Given the description of an element on the screen output the (x, y) to click on. 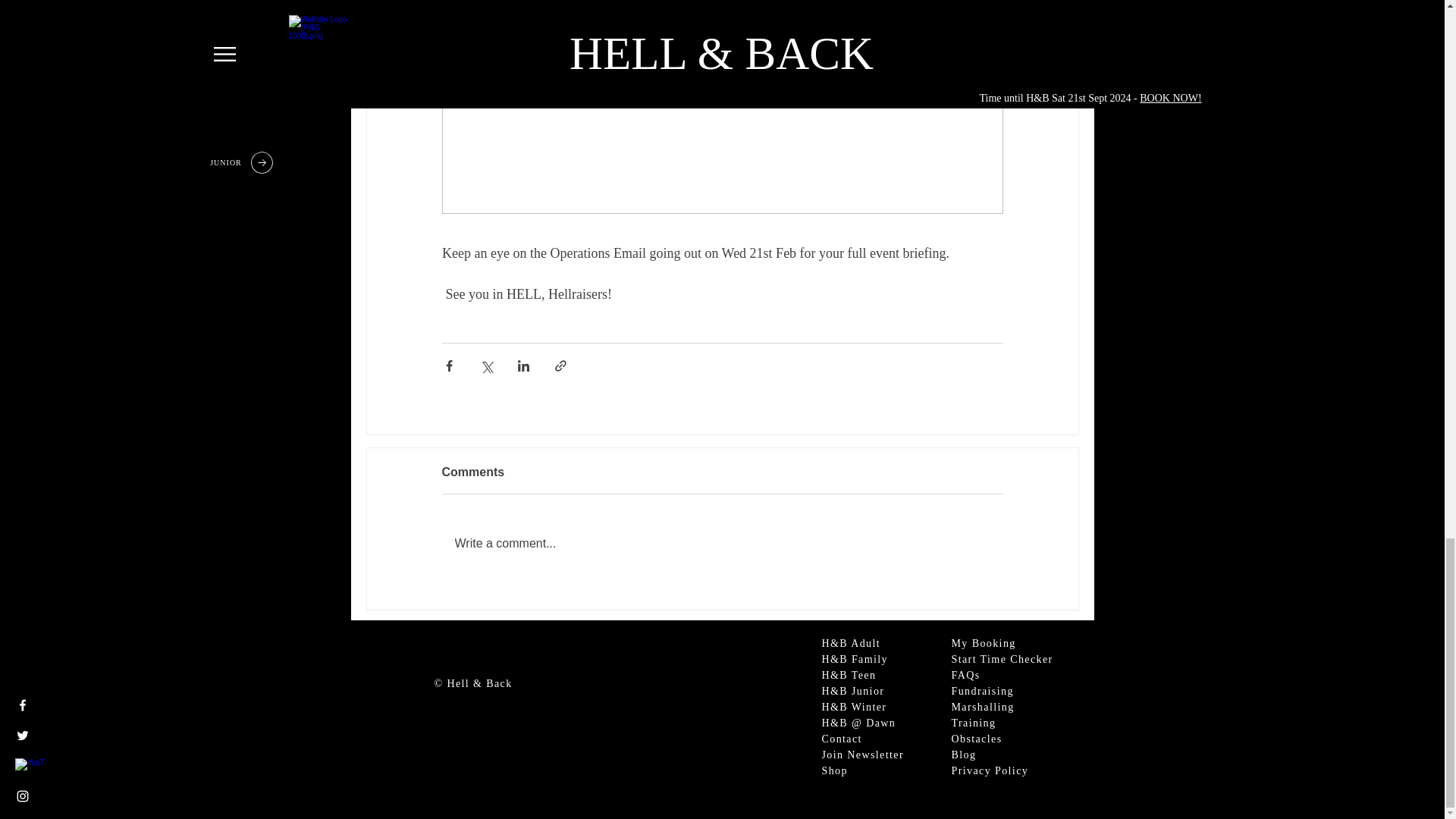
Shop (834, 770)
FAQs (964, 674)
Fundraising (981, 690)
Join Newsletter (863, 754)
Write a comment... (722, 543)
Contact (841, 738)
Obstacles (975, 738)
Blog (962, 754)
Marshalling (981, 706)
Privacy Policy (988, 770)
Training (972, 722)
My Booking (982, 643)
Start Time Checker (1001, 659)
